Given the description of an element on the screen output the (x, y) to click on. 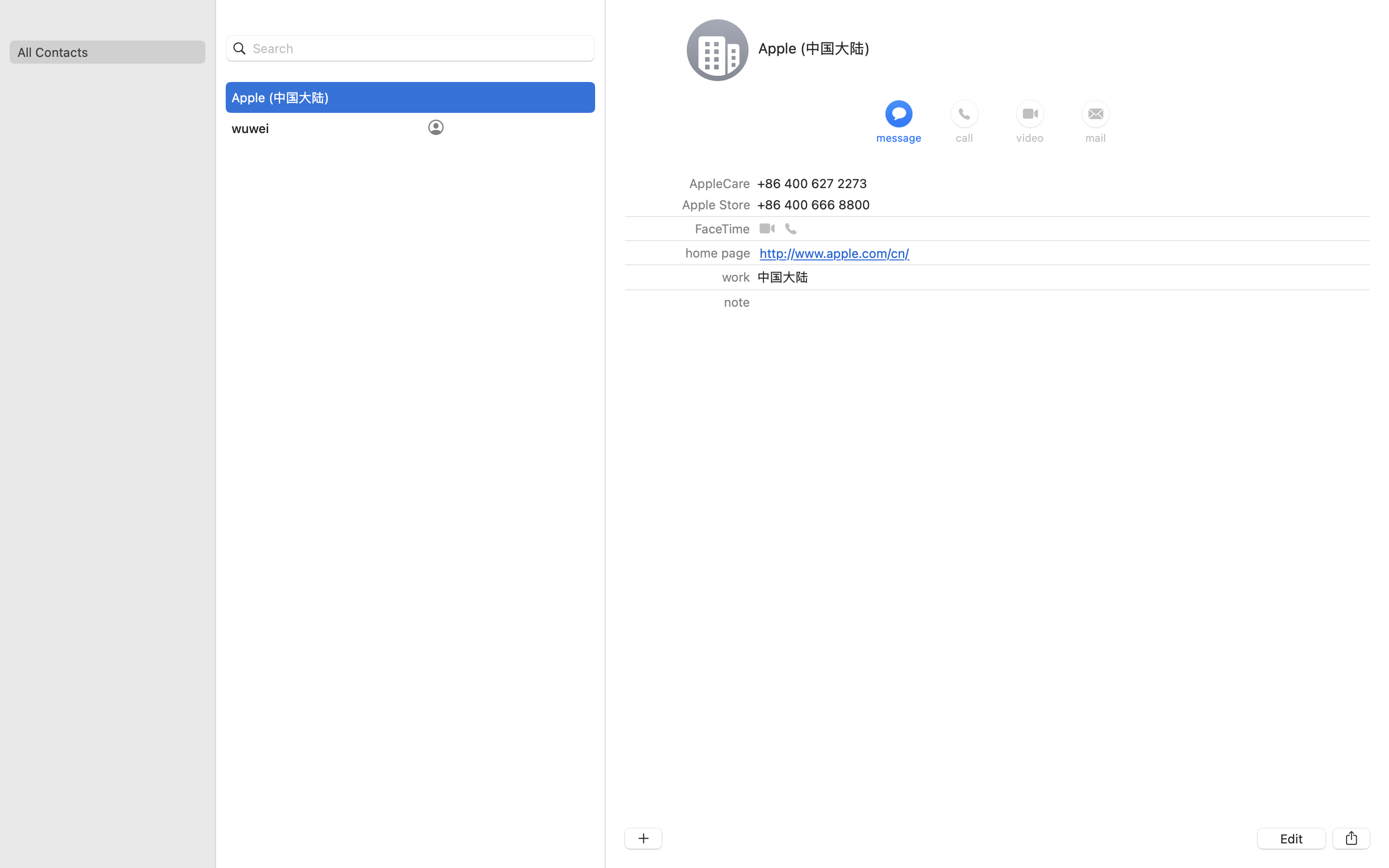
All Contacts Element type: AXStaticText (107, 51)
Apple Store Element type: AXStaticText (716, 204)
中国大陆 Element type: AXStaticText (782, 276)
